Given the description of an element on the screen output the (x, y) to click on. 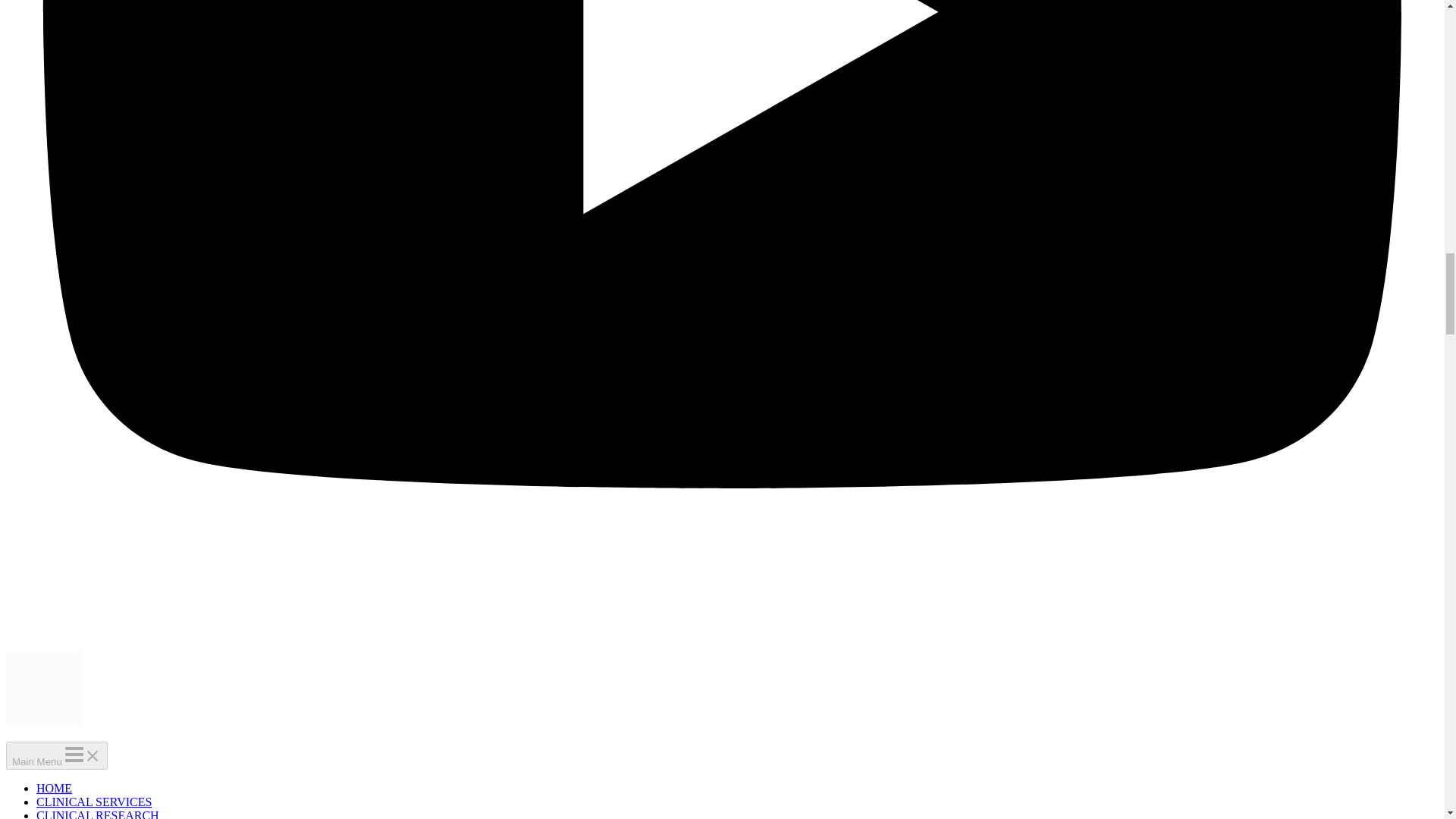
CLINICAL SERVICES (93, 801)
Main Menu (56, 755)
CLINICAL RESEARCH (97, 814)
HOME (53, 788)
